Given the description of an element on the screen output the (x, y) to click on. 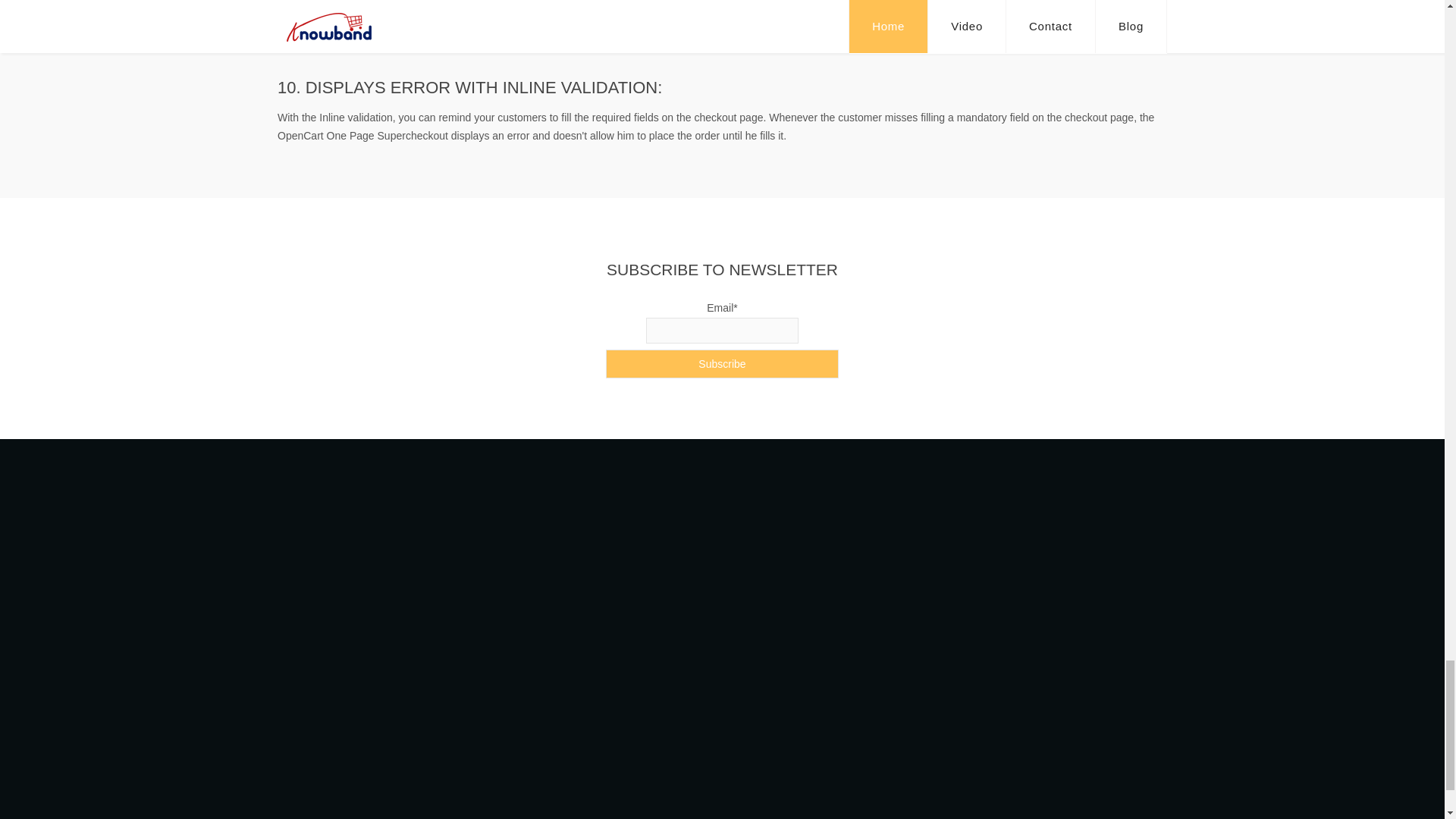
Subscribe (721, 363)
Send Message (578, 817)
Subscribe (721, 363)
